Given the description of an element on the screen output the (x, y) to click on. 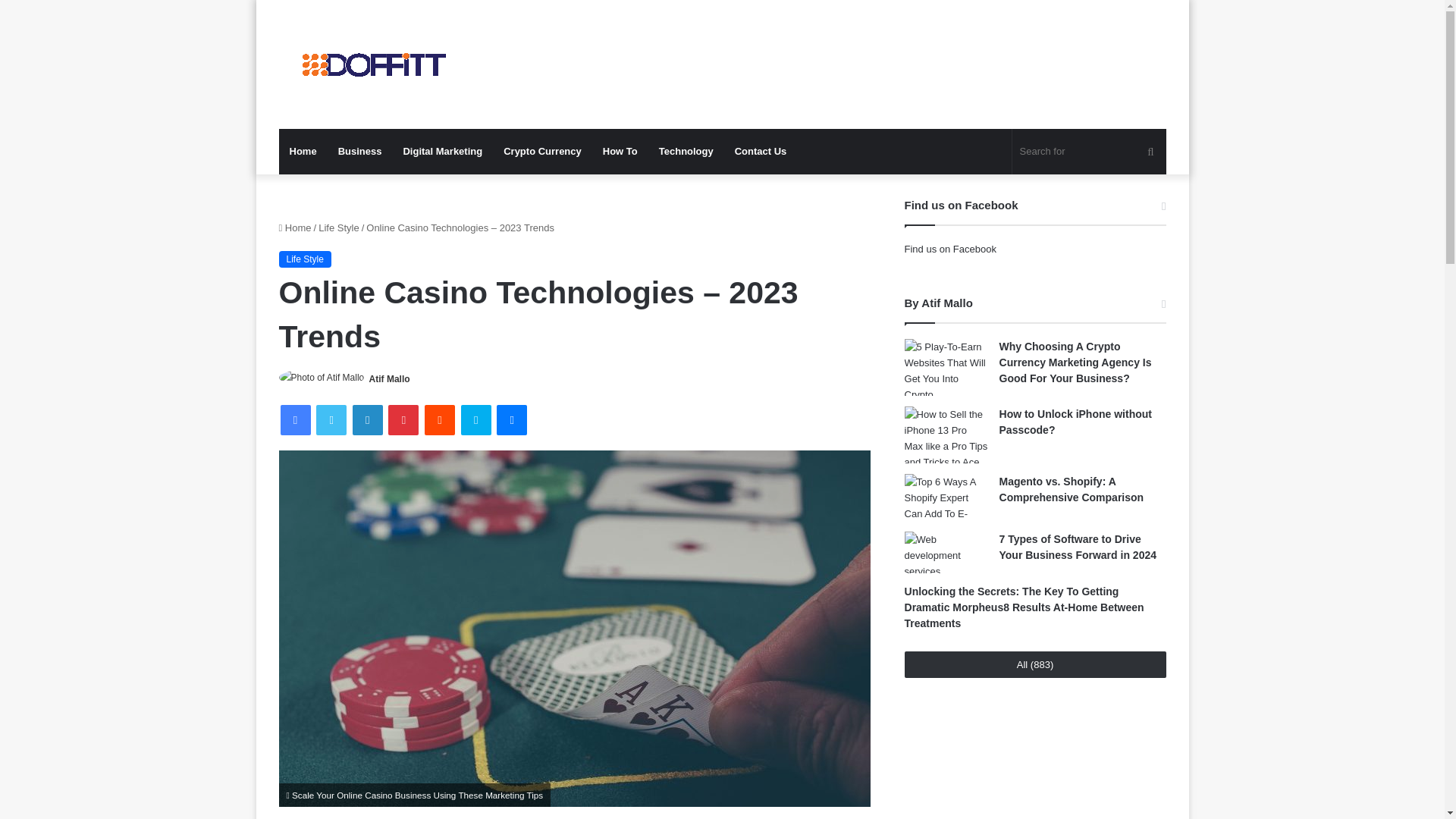
Pinterest (403, 419)
Crypto Currency (542, 151)
Digital Marketing (442, 151)
Atif Mallo (389, 378)
Twitter (330, 419)
Business (360, 151)
Facebook (296, 419)
Life Style (338, 227)
Reddit (439, 419)
Messenger (511, 419)
Home (303, 151)
Atif Mallo (389, 378)
Technology (685, 151)
Skype (476, 419)
